Given the description of an element on the screen output the (x, y) to click on. 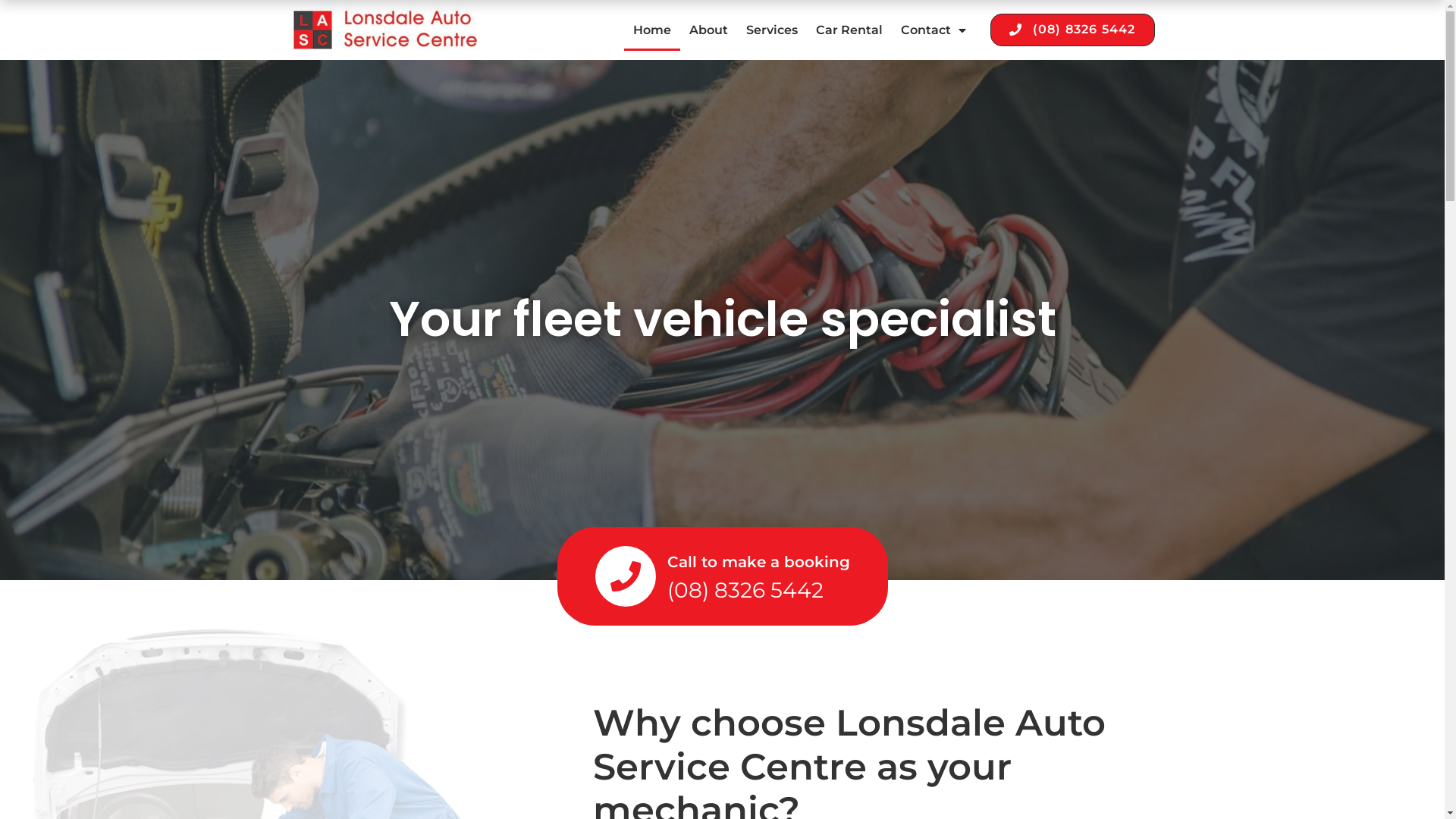
Home Element type: text (652, 30)
About Element type: text (708, 30)
(08) 8326 5442 Element type: text (1072, 29)
Contact Element type: text (933, 30)
(08) 8326 5442 Element type: text (745, 589)
Services Element type: text (771, 30)
Call to make a booking Element type: text (758, 561)
Car Rental Element type: text (848, 30)
